Given the description of an element on the screen output the (x, y) to click on. 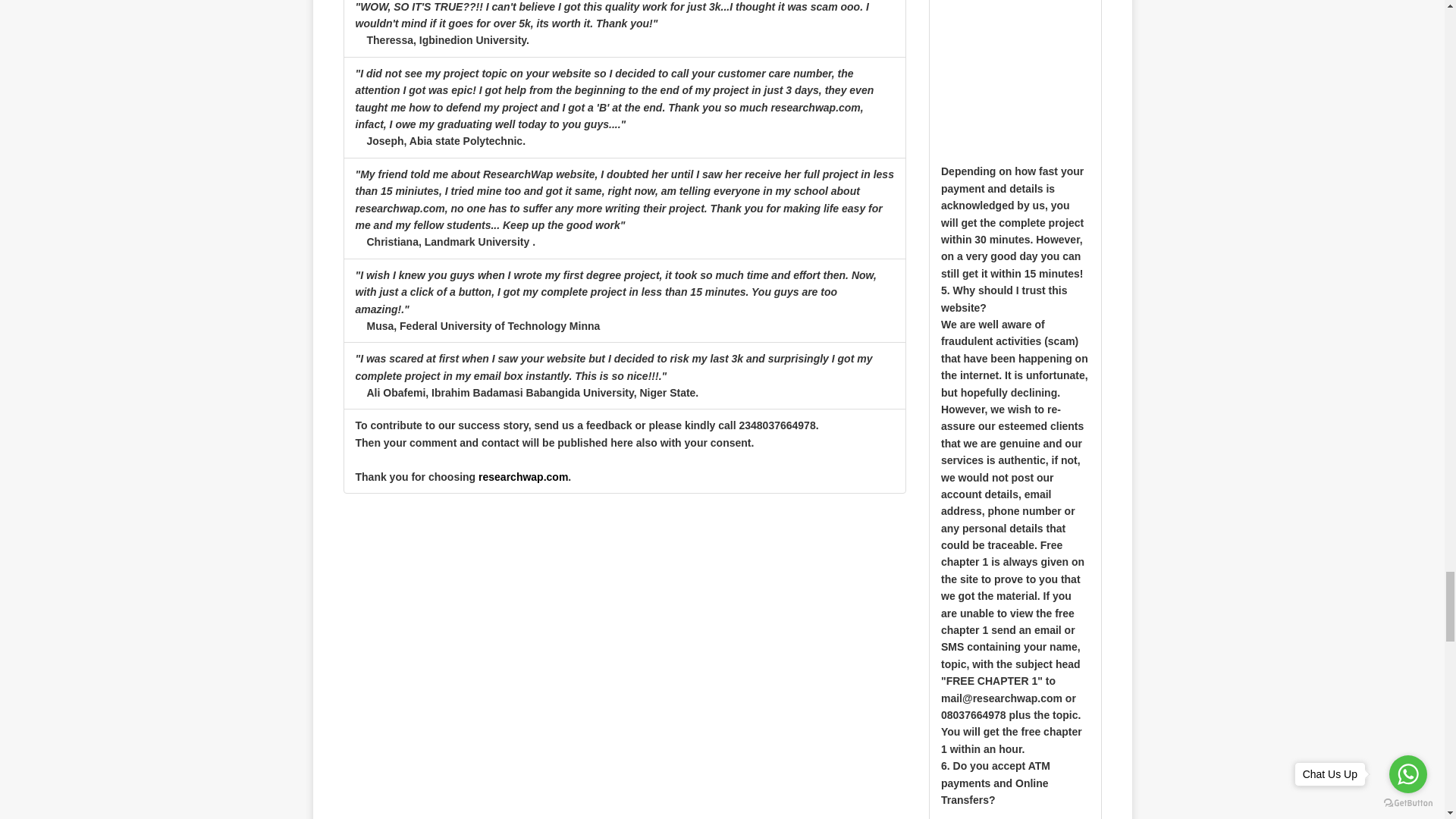
researchwap.com (523, 476)
